Given the description of an element on the screen output the (x, y) to click on. 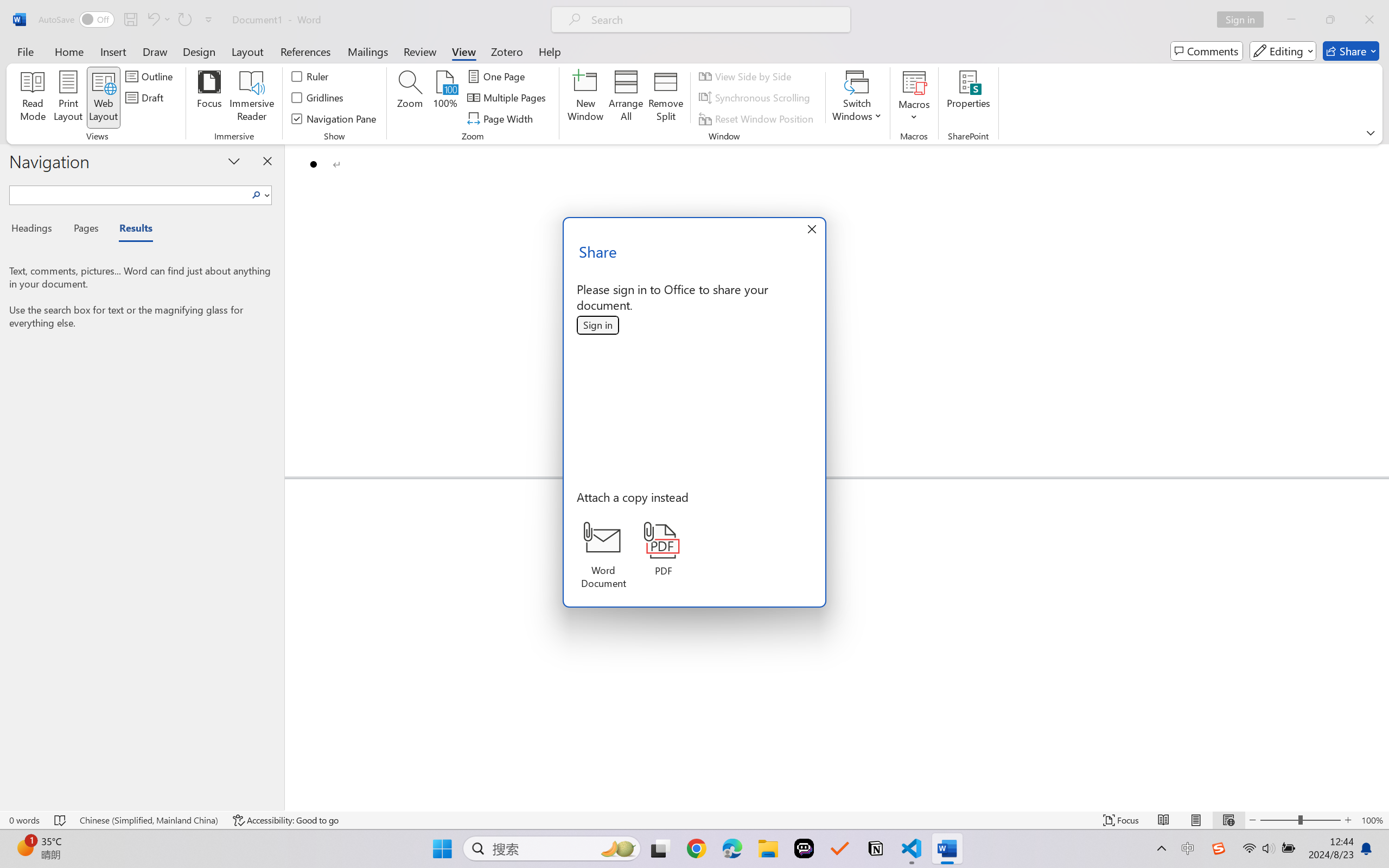
100% (445, 97)
Search document (128, 193)
View Macros (914, 81)
Can't Repeat (184, 19)
Synchronous Scrolling (755, 97)
Arrange All (625, 97)
